Given the description of an element on the screen output the (x, y) to click on. 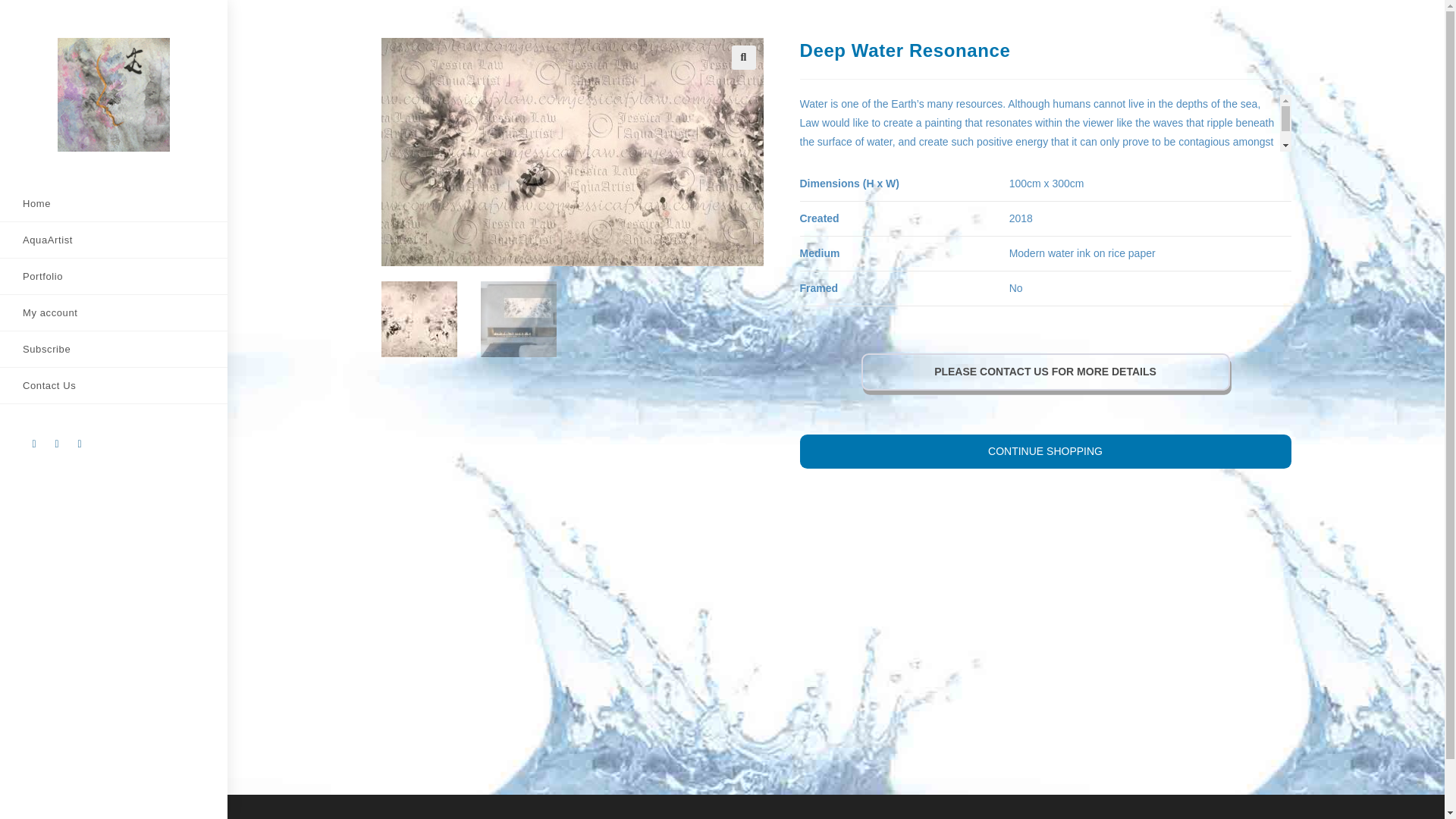
CONTINUE SHOPPING (1044, 451)
Subscribe (113, 348)
Portfolio (113, 276)
Contact Us (113, 385)
Deep-Water Resonance (607, 151)
Home (113, 203)
My account (113, 312)
AquaArtist (113, 239)
